Given the description of an element on the screen output the (x, y) to click on. 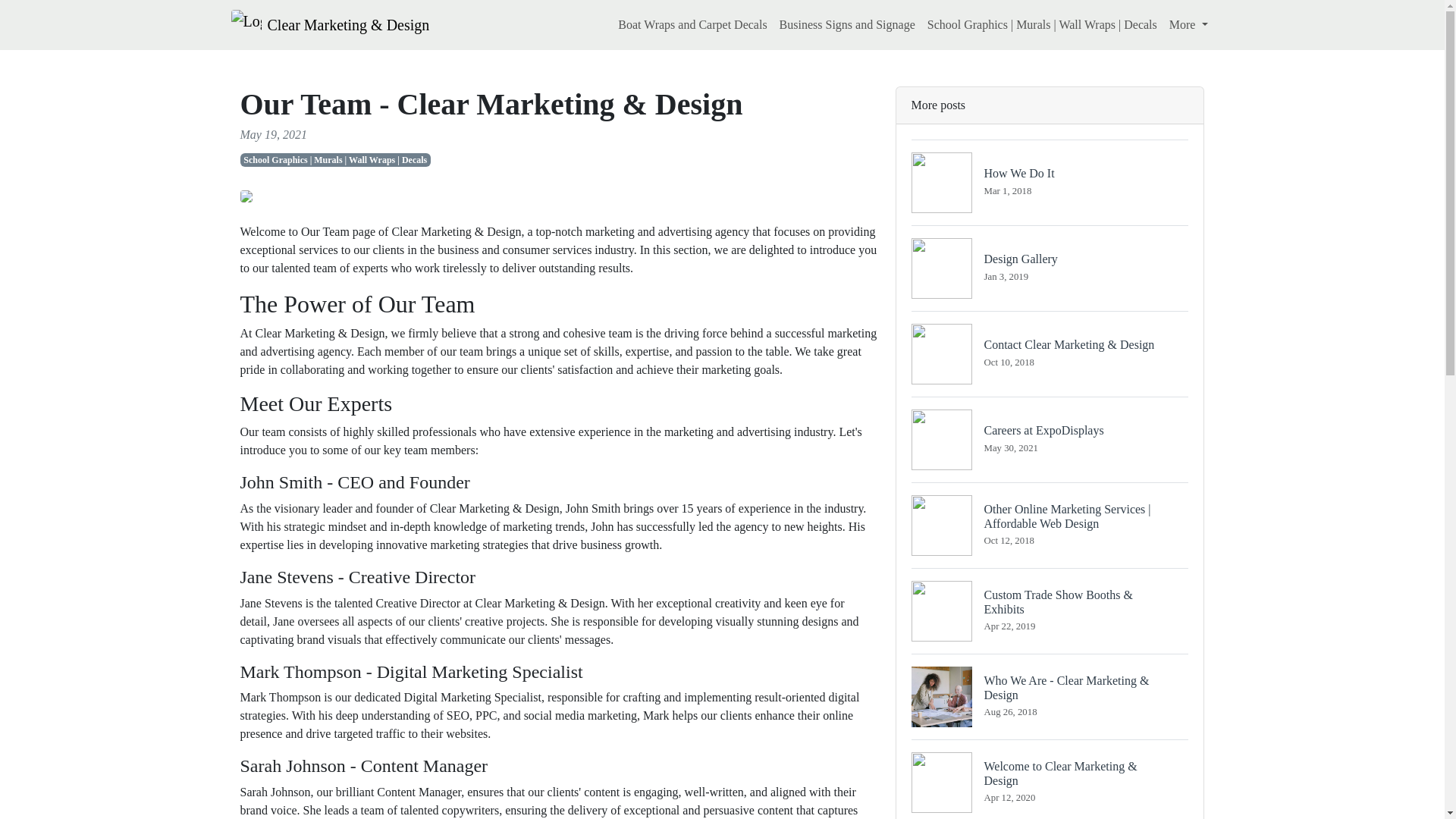
More (1050, 268)
Business Signs and Signage (1188, 24)
Boat Wraps and Carpet Decals (847, 24)
